Given the description of an element on the screen output the (x, y) to click on. 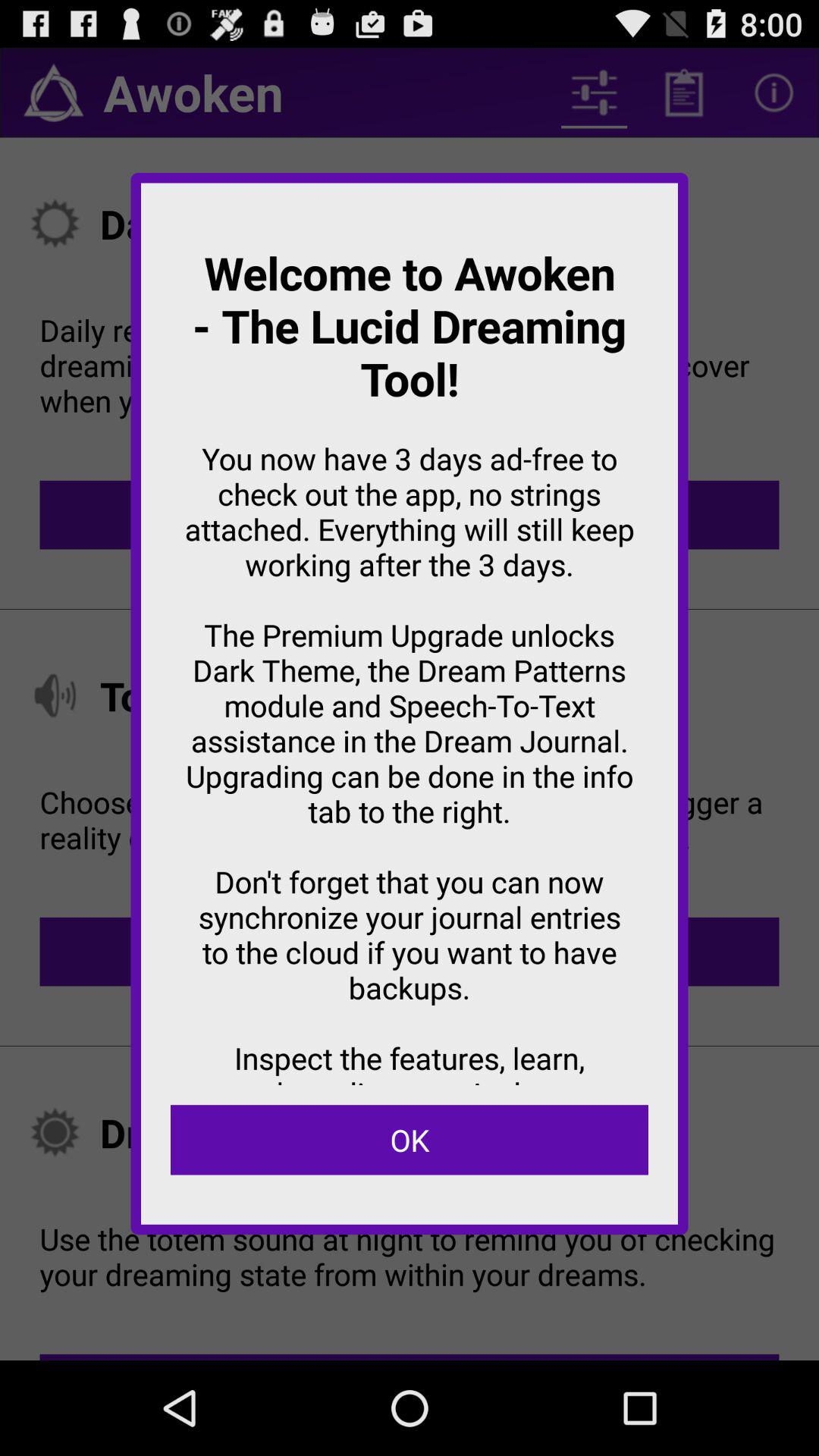
turn off icon below the welcome to awoken (409, 1140)
